Given the description of an element on the screen output the (x, y) to click on. 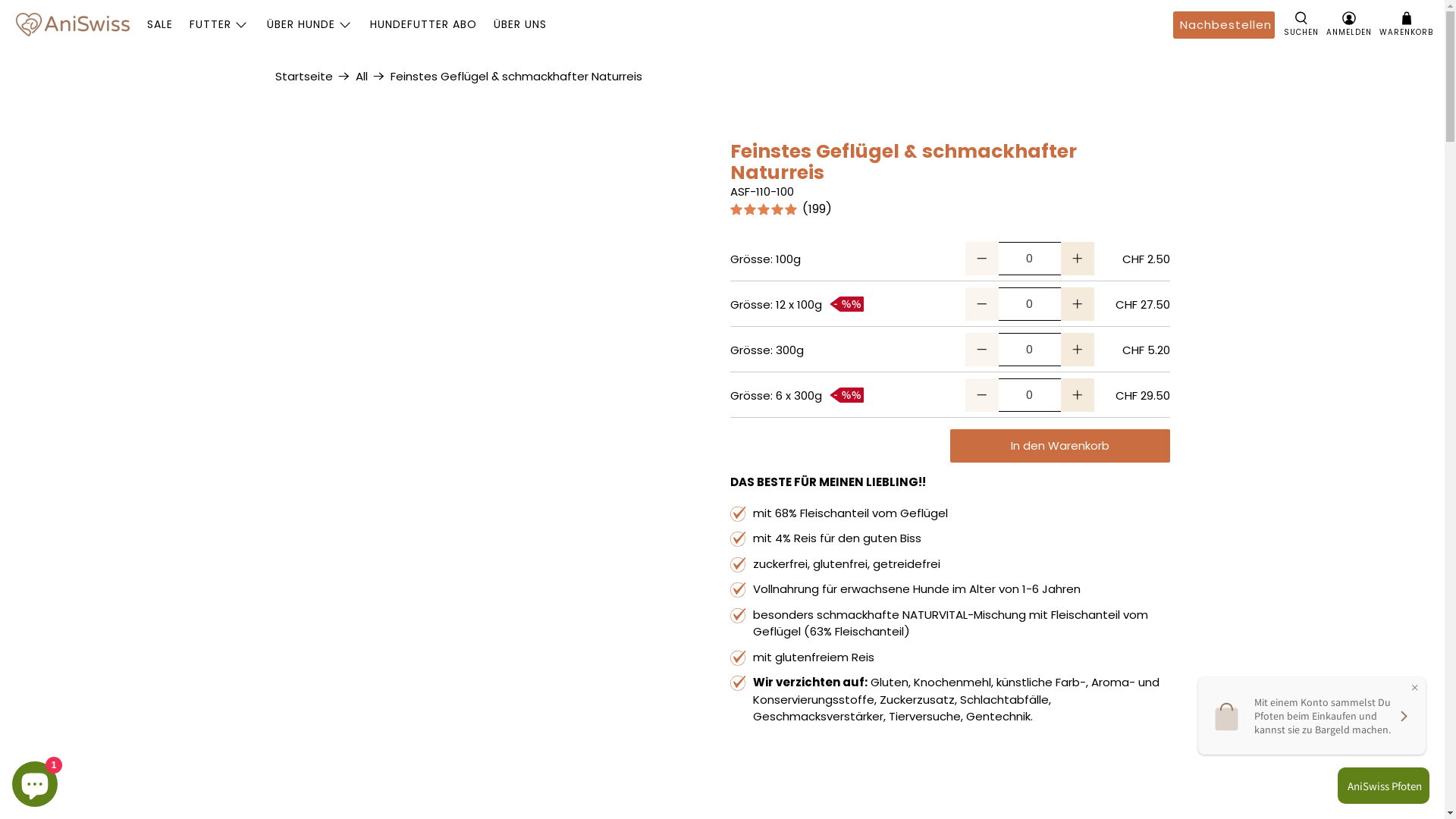
In den Warenkorb Element type: text (1059, 445)
 (199) Element type: text (949, 210)
SUCHEN Element type: text (1301, 25)
LoyaltyLion beacon Element type: hover (1379, 785)
Startseite Element type: text (303, 75)
HUNDEFUTTER ABO Element type: text (422, 24)
WARENKORB Element type: text (1406, 24)
Nachbestellen Element type: text (1223, 24)
Ani-Swiss GmbH Element type: hover (72, 24)
ANMELDEN Element type: text (1348, 25)
All Element type: text (360, 75)
Onlineshop-Chat von Shopify Element type: hover (34, 780)
FUTTER Element type: text (219, 24)
SALE Element type: text (159, 24)
